Given the description of an element on the screen output the (x, y) to click on. 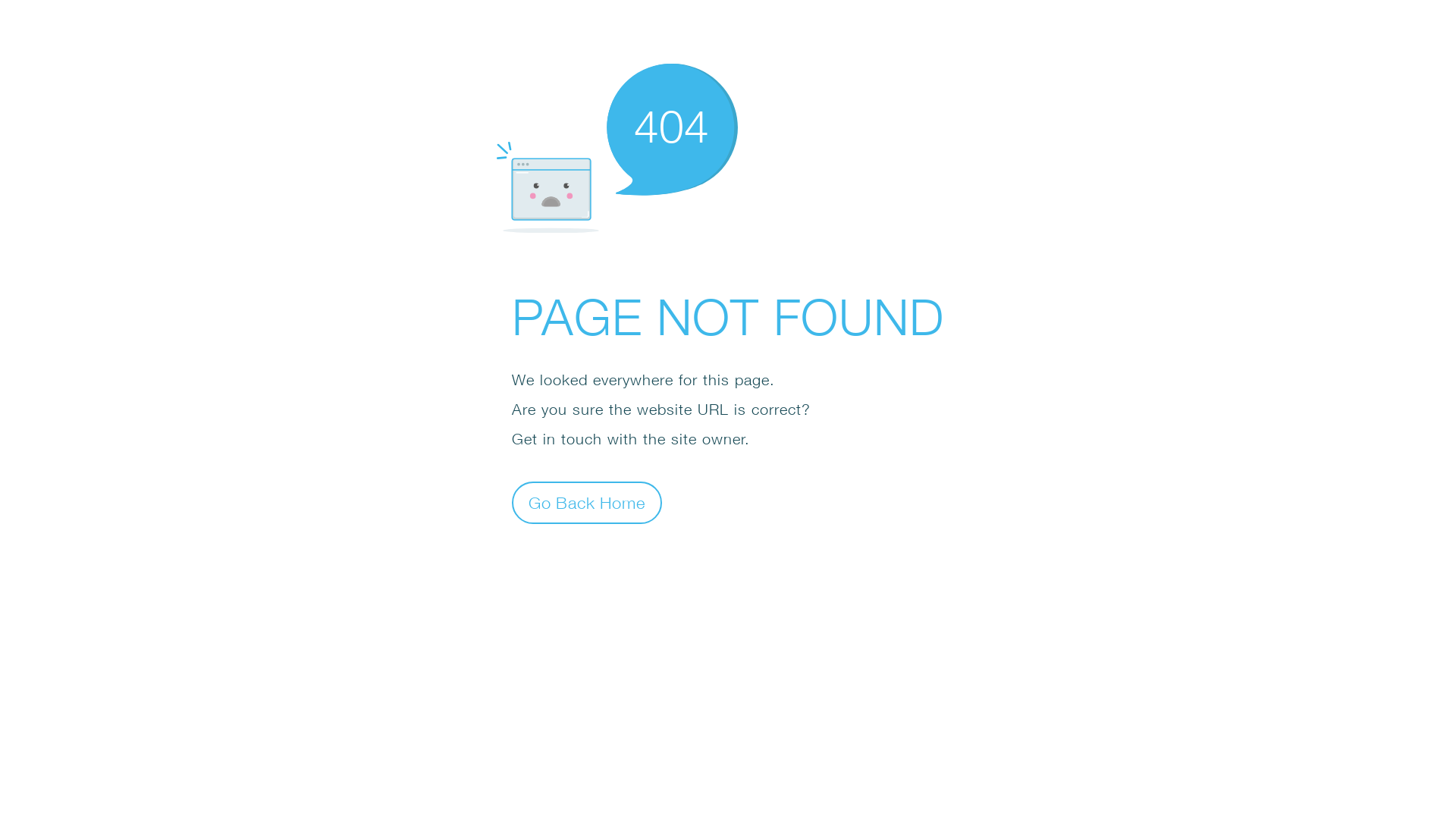
Go Back Home Element type: text (586, 502)
